Given the description of an element on the screen output the (x, y) to click on. 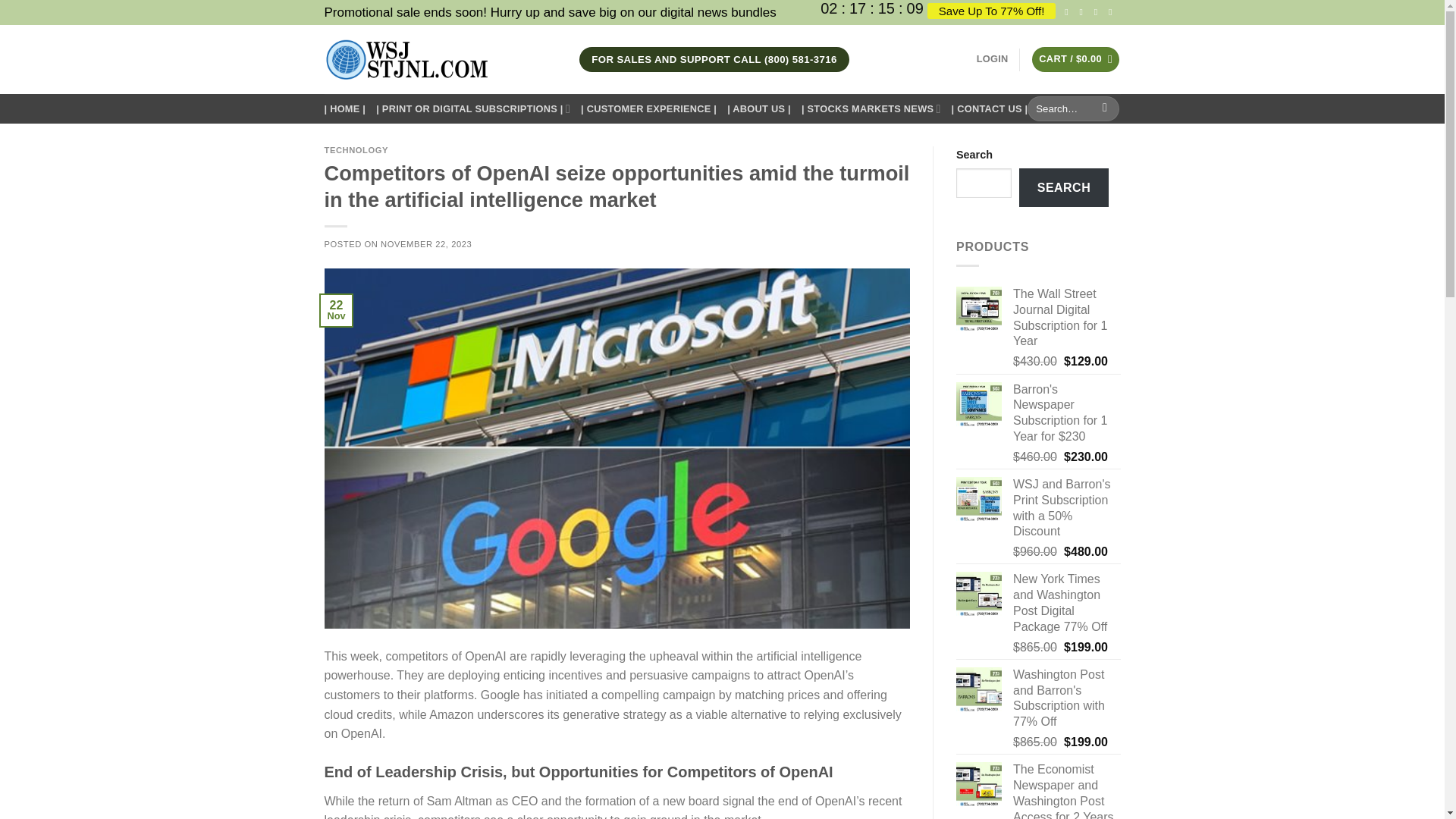
Follow on Instagram (1084, 11)
Follow on Twitter (1098, 11)
LOGIN (992, 59)
Cart (1075, 59)
Send us an email (1113, 11)
Follow on Facebook (1069, 11)
